Given the description of an element on the screen output the (x, y) to click on. 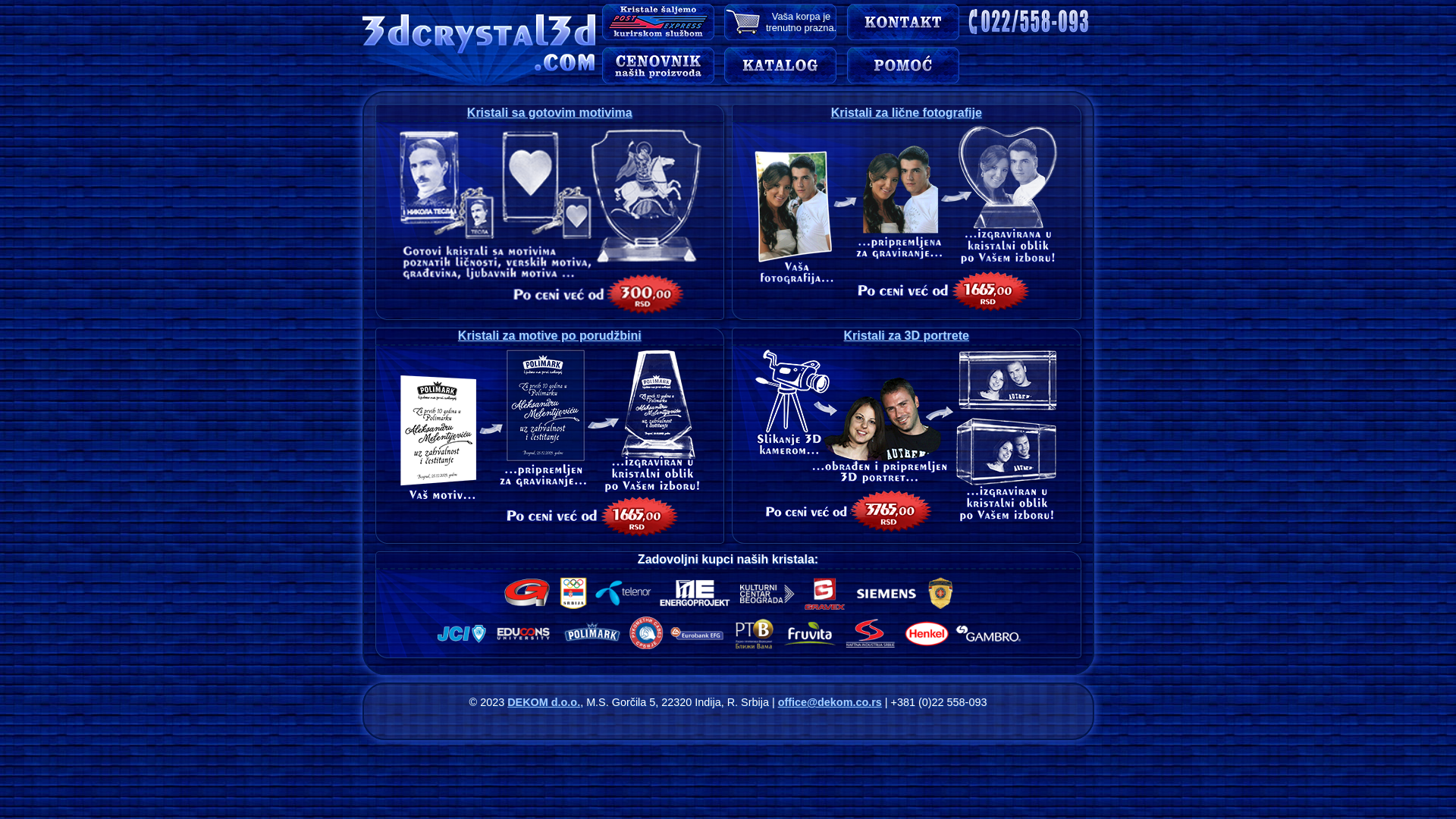
DEKOM d.o.o. Element type: text (543, 702)
Kristali sa gotovim motivima Element type: text (549, 112)
Kristali za 3D portrete Element type: text (906, 335)
office@dekom.co.rs Element type: text (829, 702)
